Given the description of an element on the screen output the (x, y) to click on. 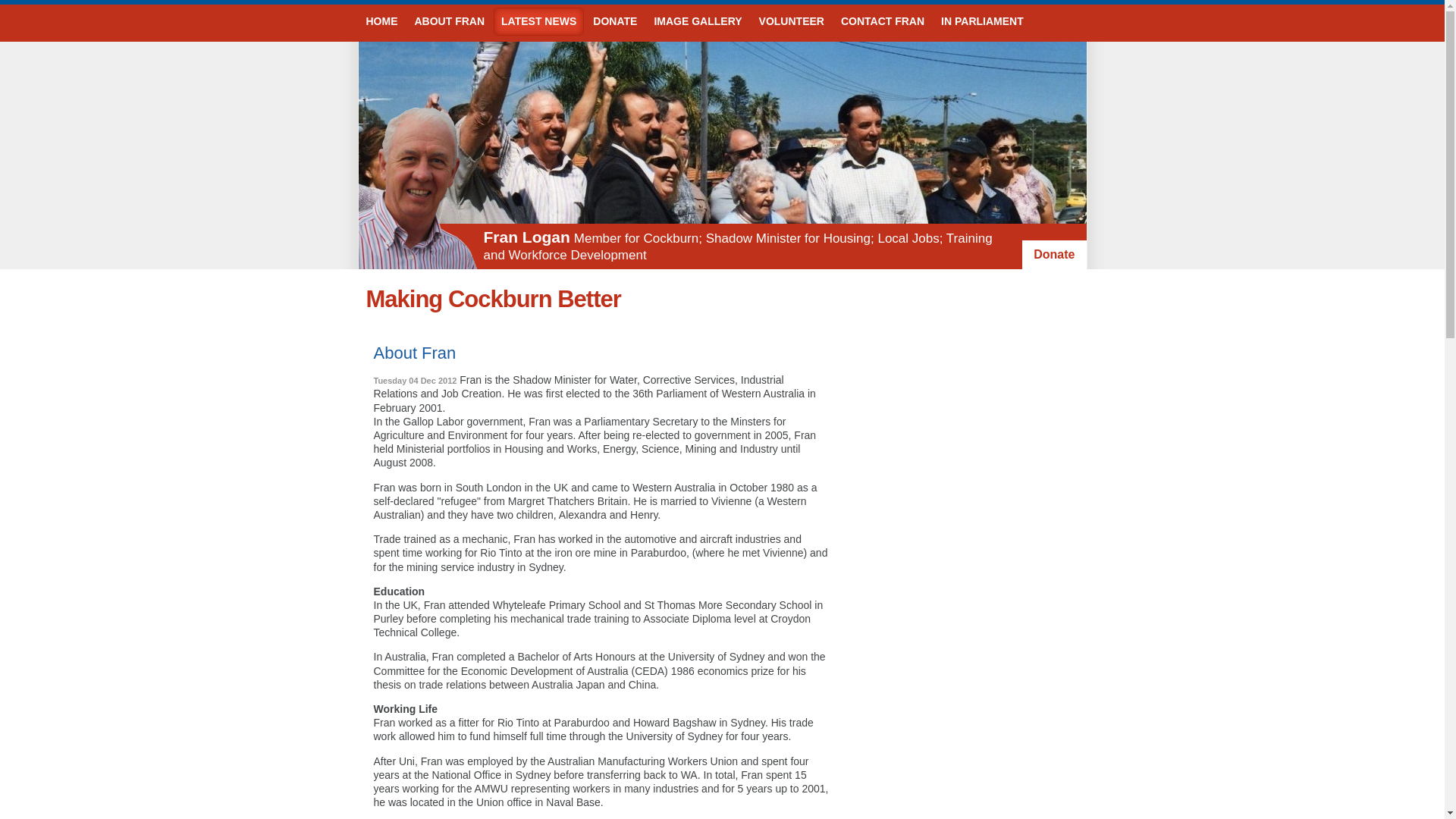
DONATE Element type: text (614, 21)
IN PARLIAMENT Element type: text (982, 21)
CONTACT FRAN Element type: text (882, 21)
ABOUT FRAN Element type: text (449, 21)
HOME Element type: text (380, 21)
IMAGE GALLERY Element type: text (697, 21)
LATEST NEWS Element type: text (538, 21)
Donate Element type: text (1053, 254)
VOLUNTEER Element type: text (791, 21)
